Given the description of an element on the screen output the (x, y) to click on. 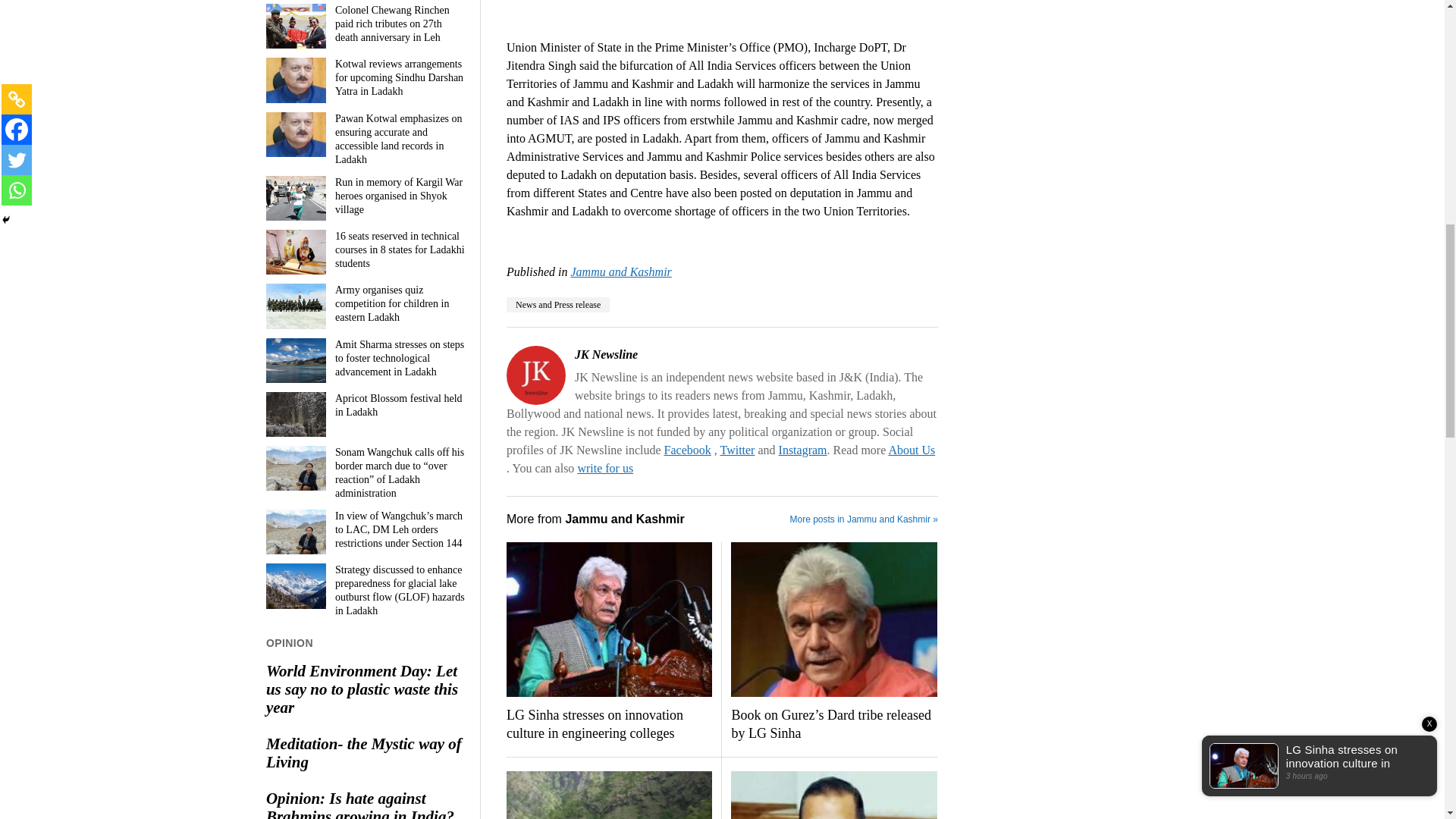
View all posts in Jammu and Kashmir (620, 271)
